Given the description of an element on the screen output the (x, y) to click on. 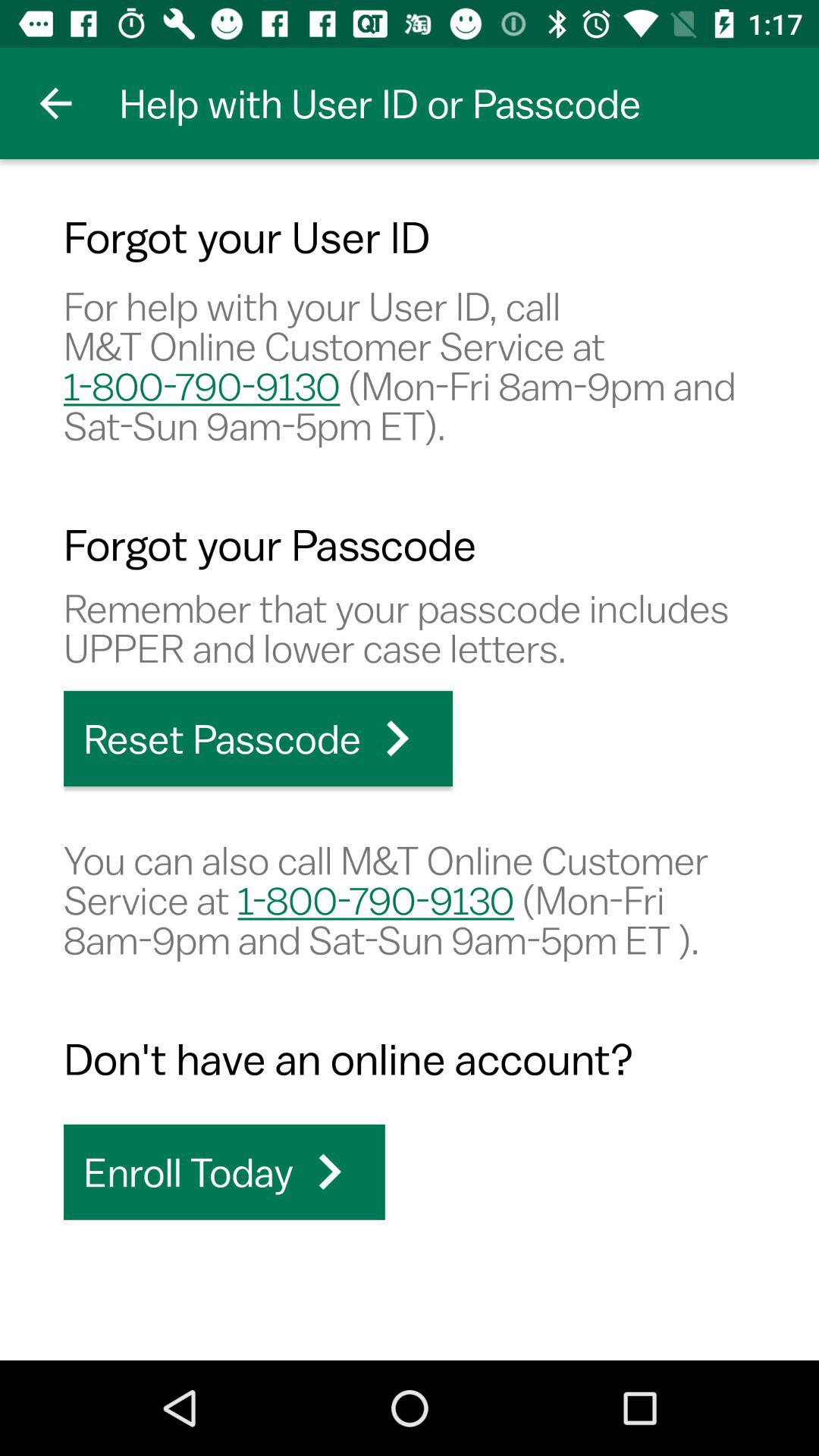
launch the item above you can also icon (257, 738)
